Given the description of an element on the screen output the (x, y) to click on. 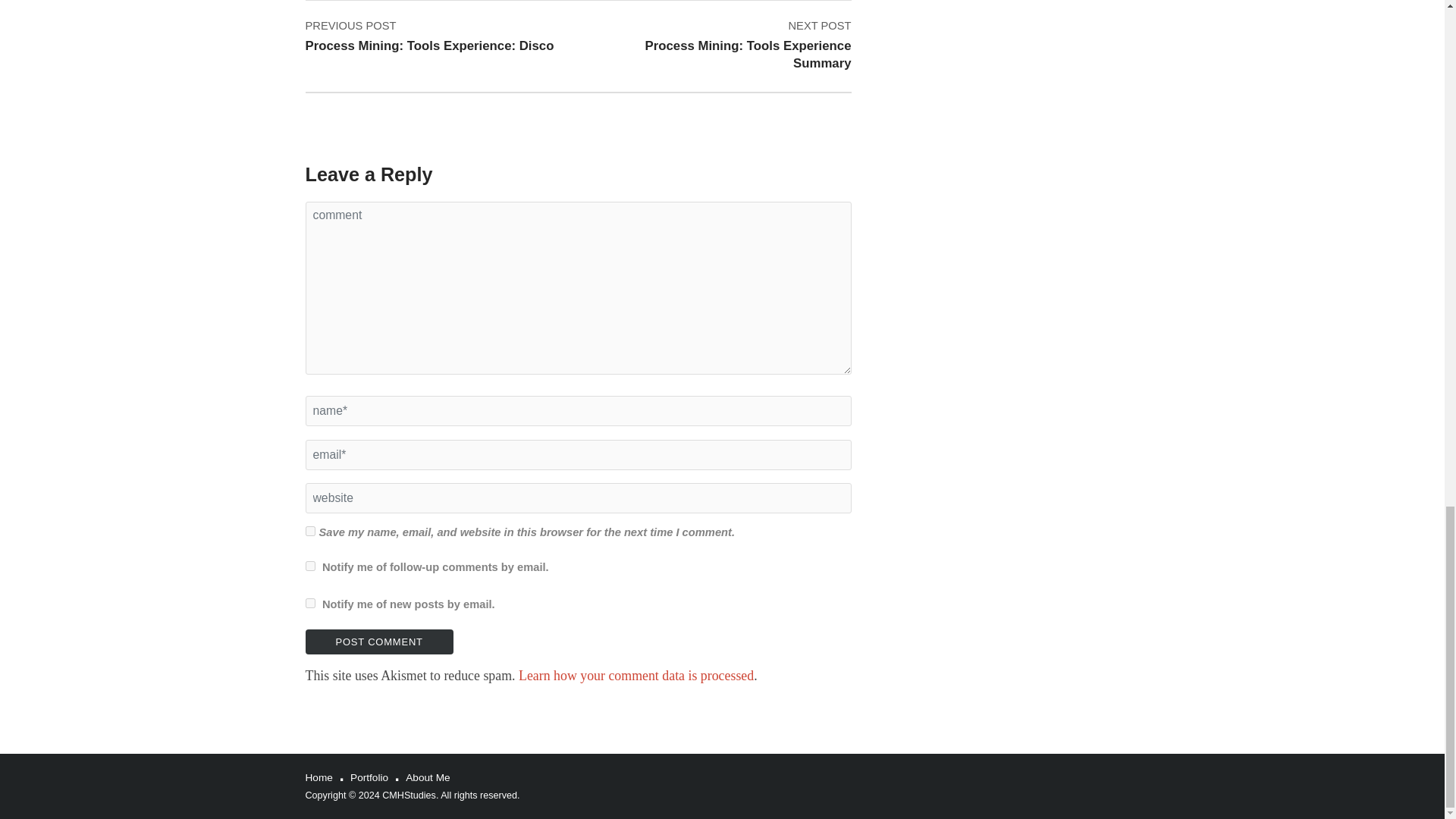
yes (309, 531)
subscribe (309, 565)
Post Comment (378, 641)
subscribe (309, 603)
About Me (427, 777)
Post Comment (378, 641)
Portfolio (724, 44)
Learn how your comment data is processed (369, 777)
Home (636, 675)
